Given the description of an element on the screen output the (x, y) to click on. 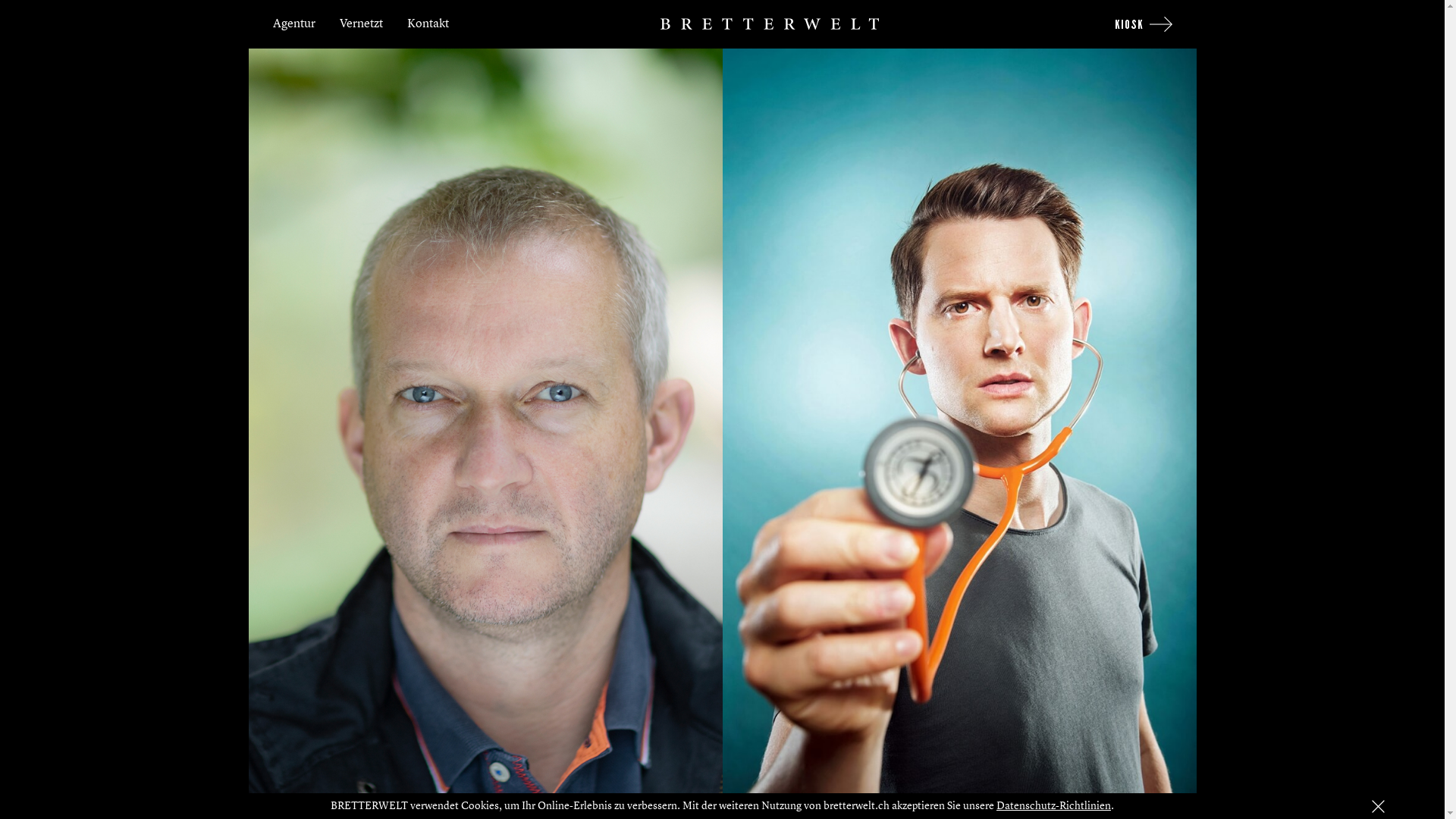
Kontakt Element type: text (427, 24)
Agentur Element type: text (294, 24)
Datenschutz-Richtlinien Element type: text (1053, 805)
Vernetzt Element type: text (360, 24)
Datenschutz Element type: text (1413, 807)
